Given the description of an element on the screen output the (x, y) to click on. 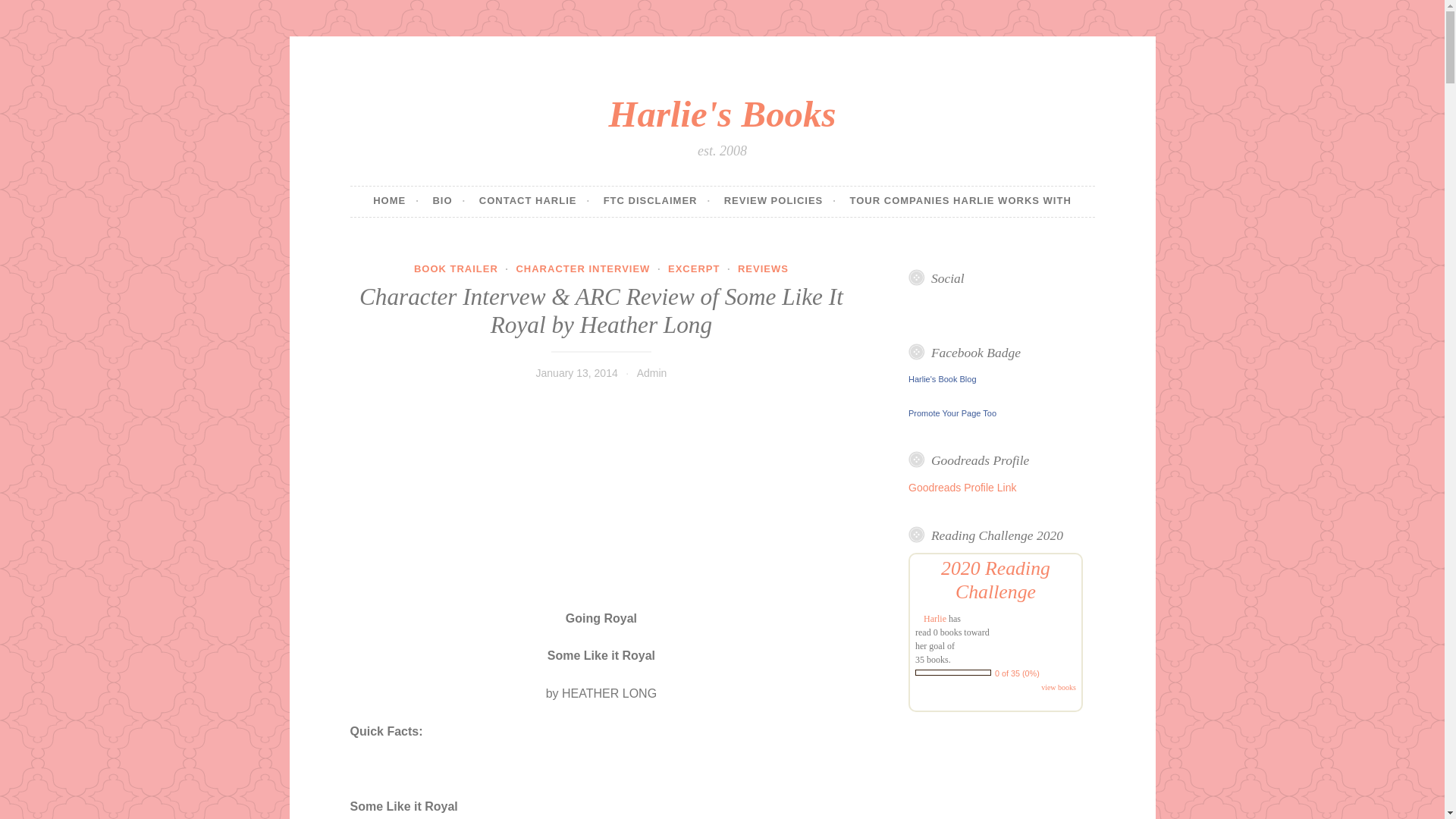
EXCERPT (693, 268)
REVIEW POLICIES (779, 201)
REVIEWS (763, 268)
BIO (448, 201)
Make your own badge! (951, 412)
January 13, 2014 (576, 372)
Harlie's Books (721, 114)
Harlie's Book Blog (942, 379)
CONTACT HARLIE (534, 201)
BOOK TRAILER (455, 268)
CHARACTER INTERVIEW (582, 268)
FTC DISCLAIMER (657, 201)
HOME (395, 201)
TOUR COMPANIES HARLIE WORKS WITH (960, 201)
